Given the description of an element on the screen output the (x, y) to click on. 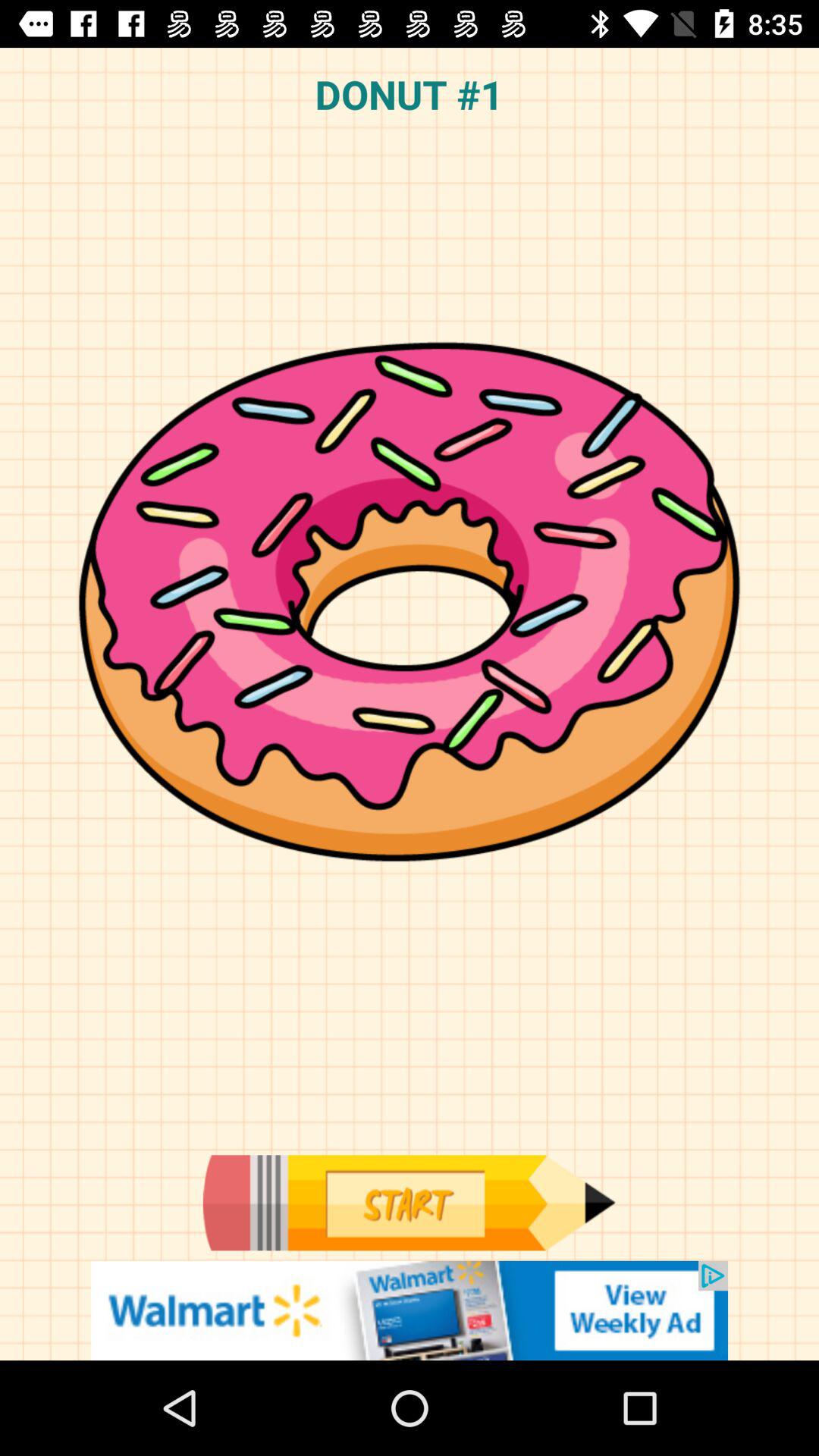
connect to advertisement (409, 1310)
